Given the description of an element on the screen output the (x, y) to click on. 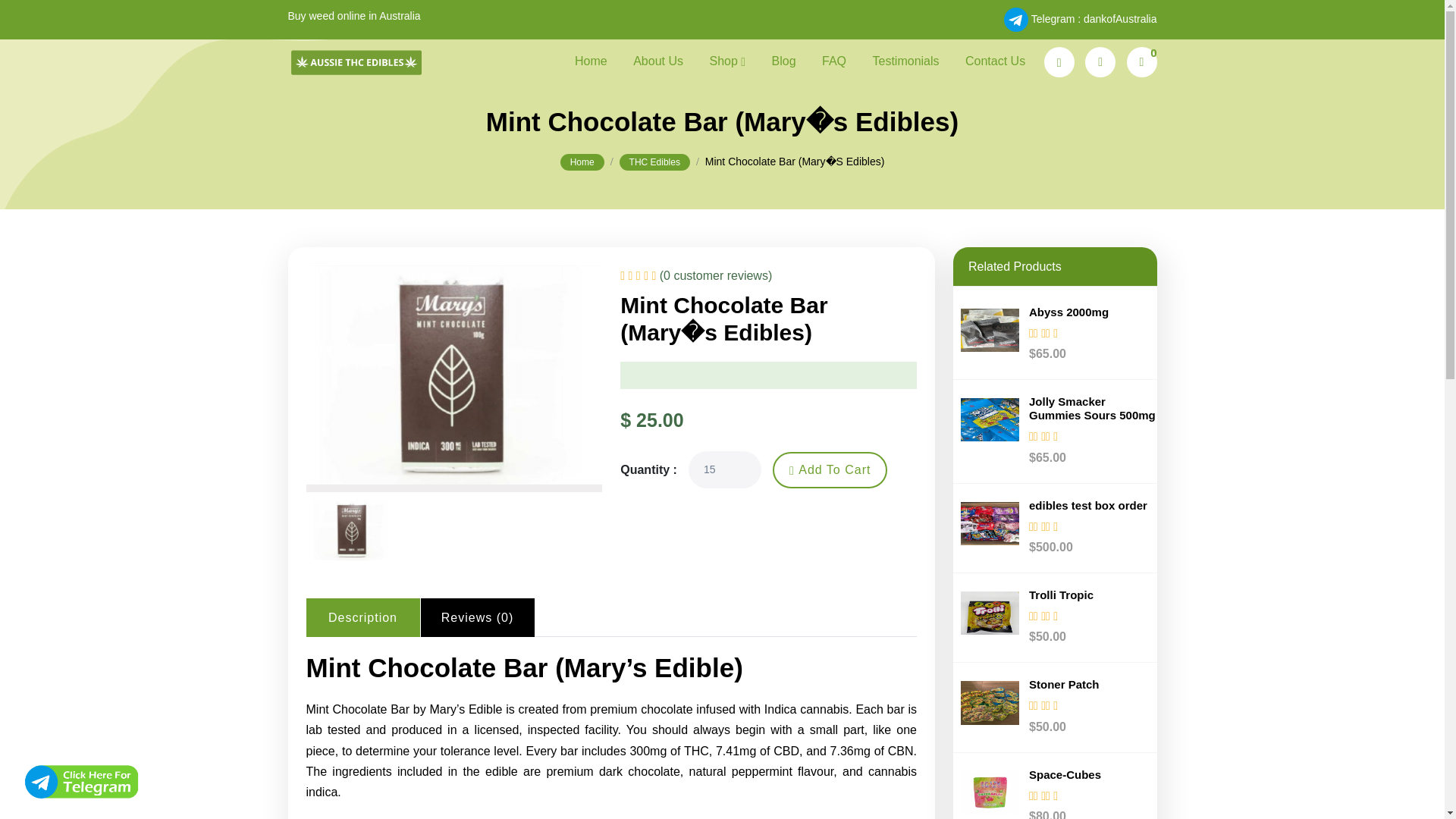
Telegram : dankofAustralia (1075, 19)
THC Edibles (655, 161)
0 (1141, 61)
Home (591, 60)
Abyss 2000mg (1068, 311)
FAQ (833, 60)
Blog (783, 60)
15 (724, 469)
Shop (727, 60)
About Us (657, 60)
